Given the description of an element on the screen output the (x, y) to click on. 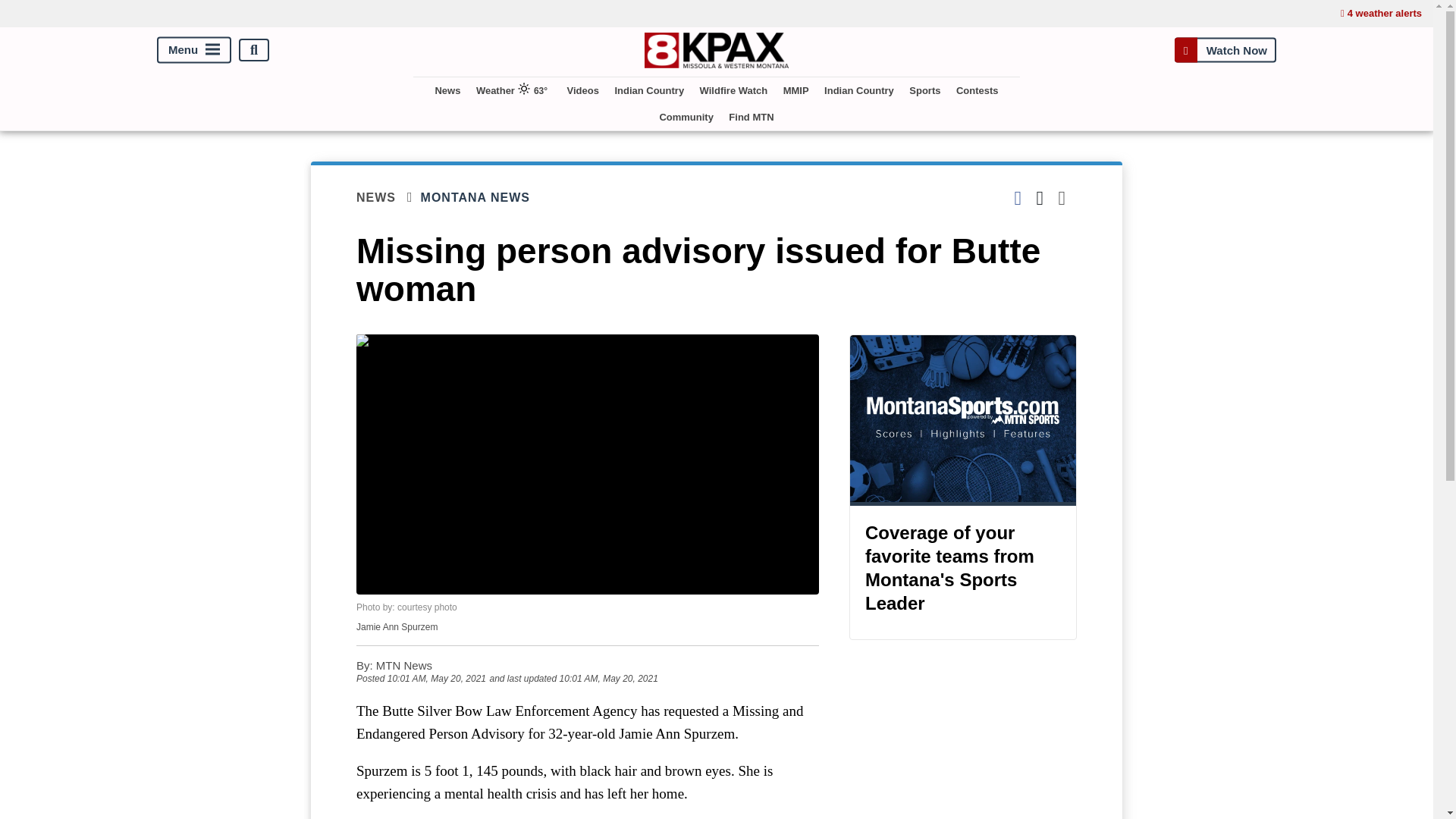
Watch Now (1224, 50)
Menu (194, 49)
